Given the description of an element on the screen output the (x, y) to click on. 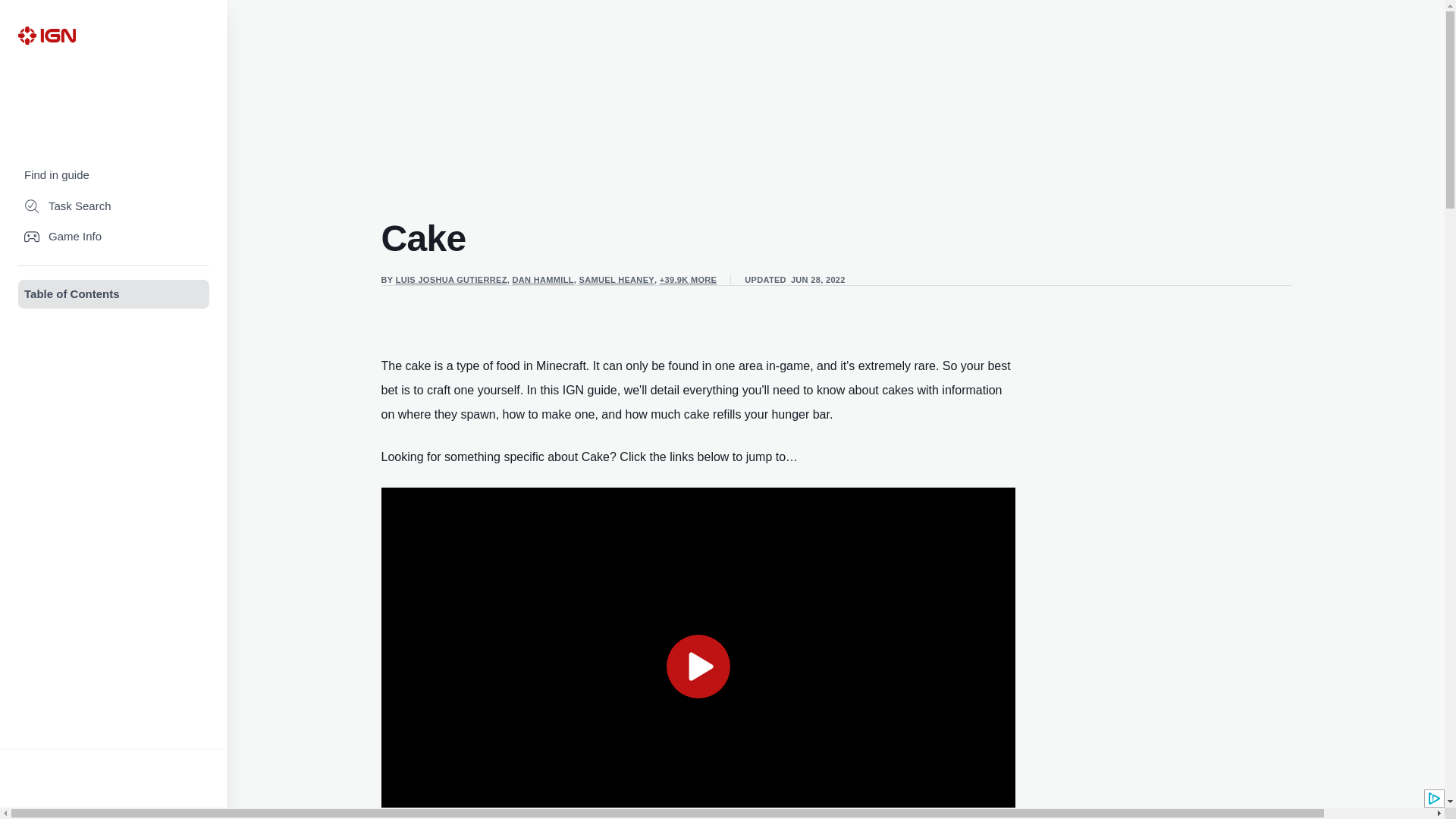
IGN (46, 35)
Table of Contents (113, 294)
Table of Contents (113, 294)
Game Info (113, 236)
Find in guide (113, 175)
Task Search (113, 206)
IGN Logo (46, 35)
IGN Logo (46, 34)
Task Search (113, 206)
Find in guide (113, 175)
